Given the description of an element on the screen output the (x, y) to click on. 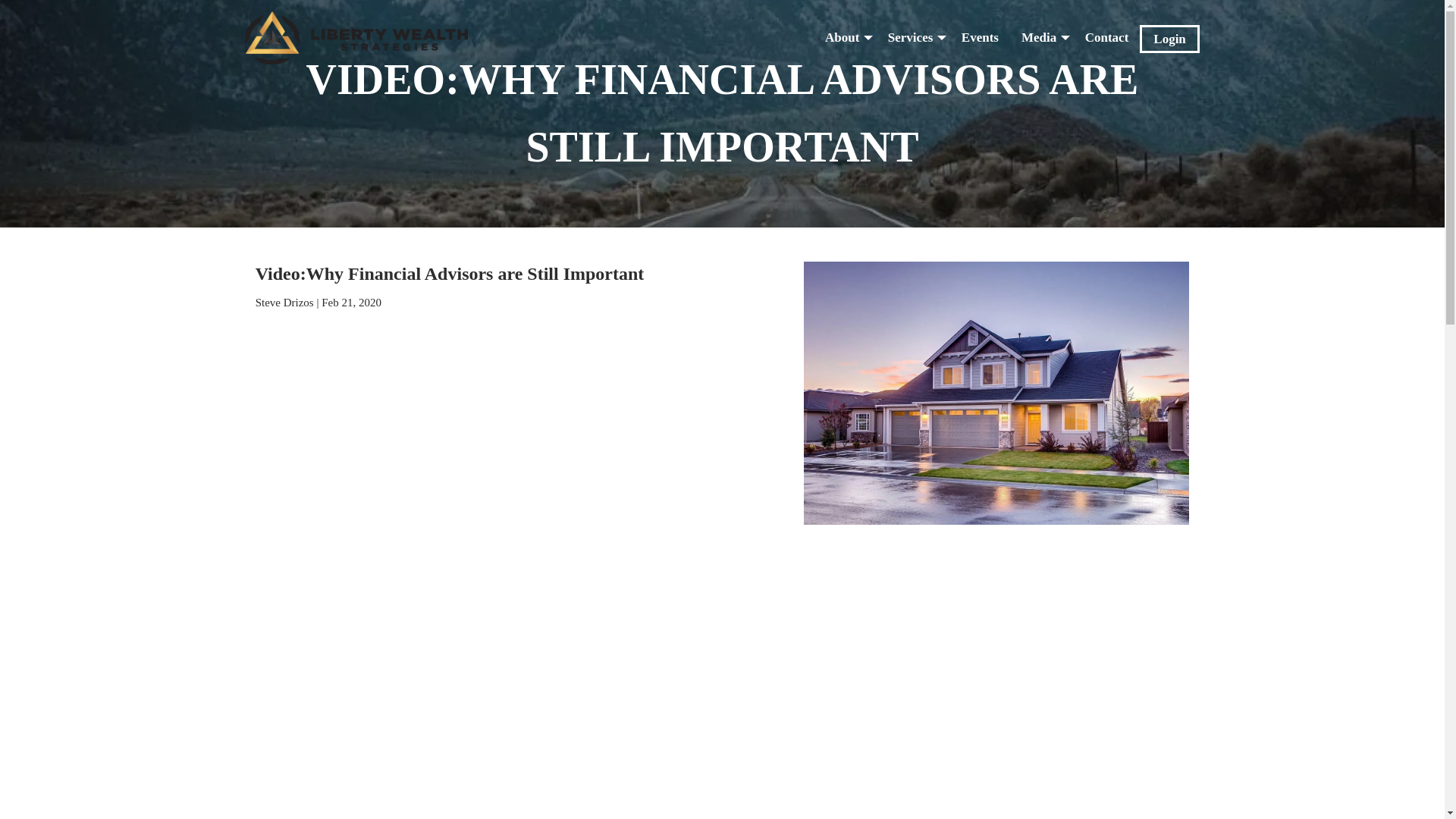
About (844, 37)
Media (1042, 37)
Login (1169, 39)
Events (980, 37)
Contact (1107, 37)
Services (913, 37)
